Given the description of an element on the screen output the (x, y) to click on. 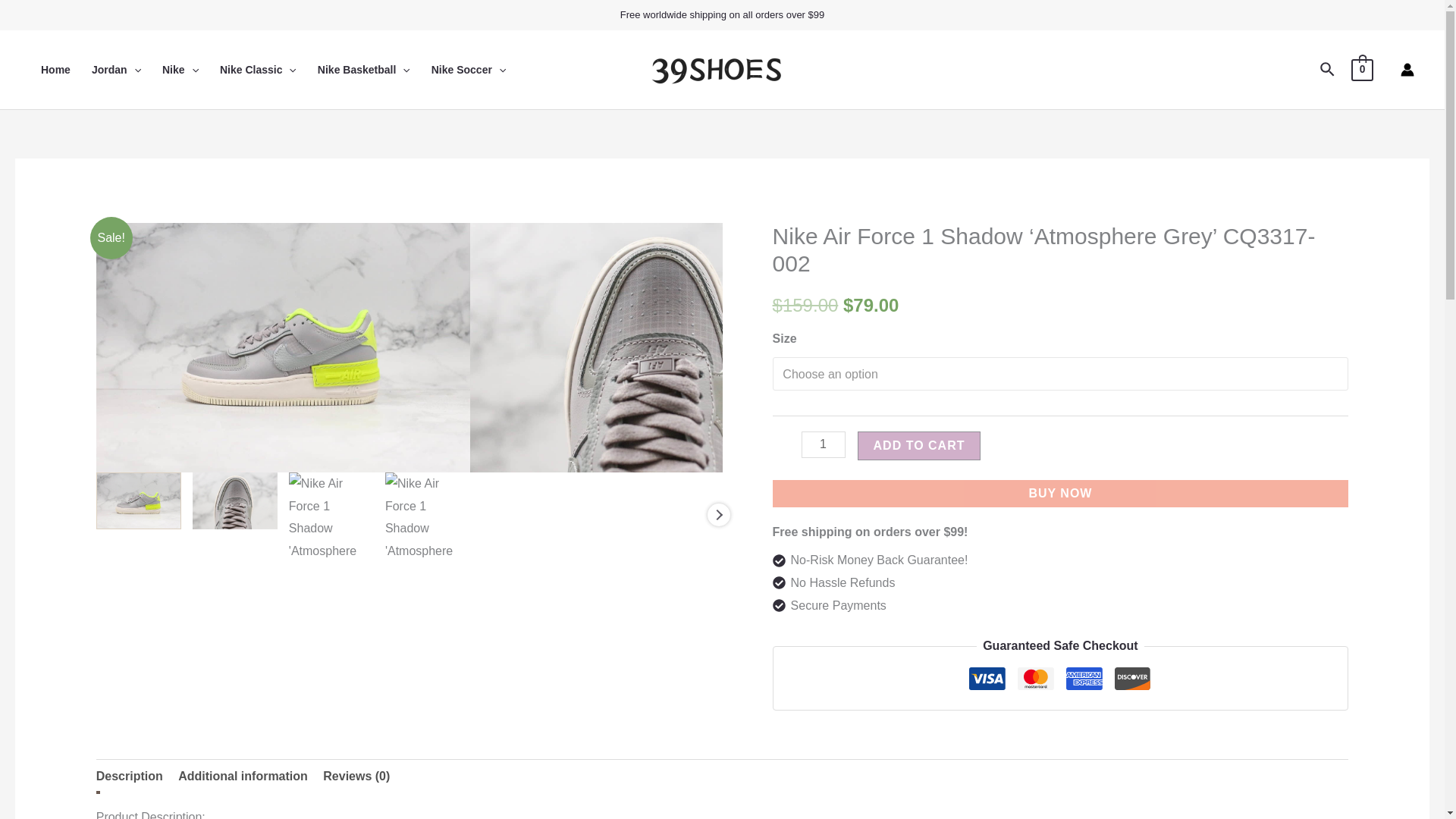
Jordan (116, 69)
Shift-click to edit this widget. (722, 14)
